Given the description of an element on the screen output the (x, y) to click on. 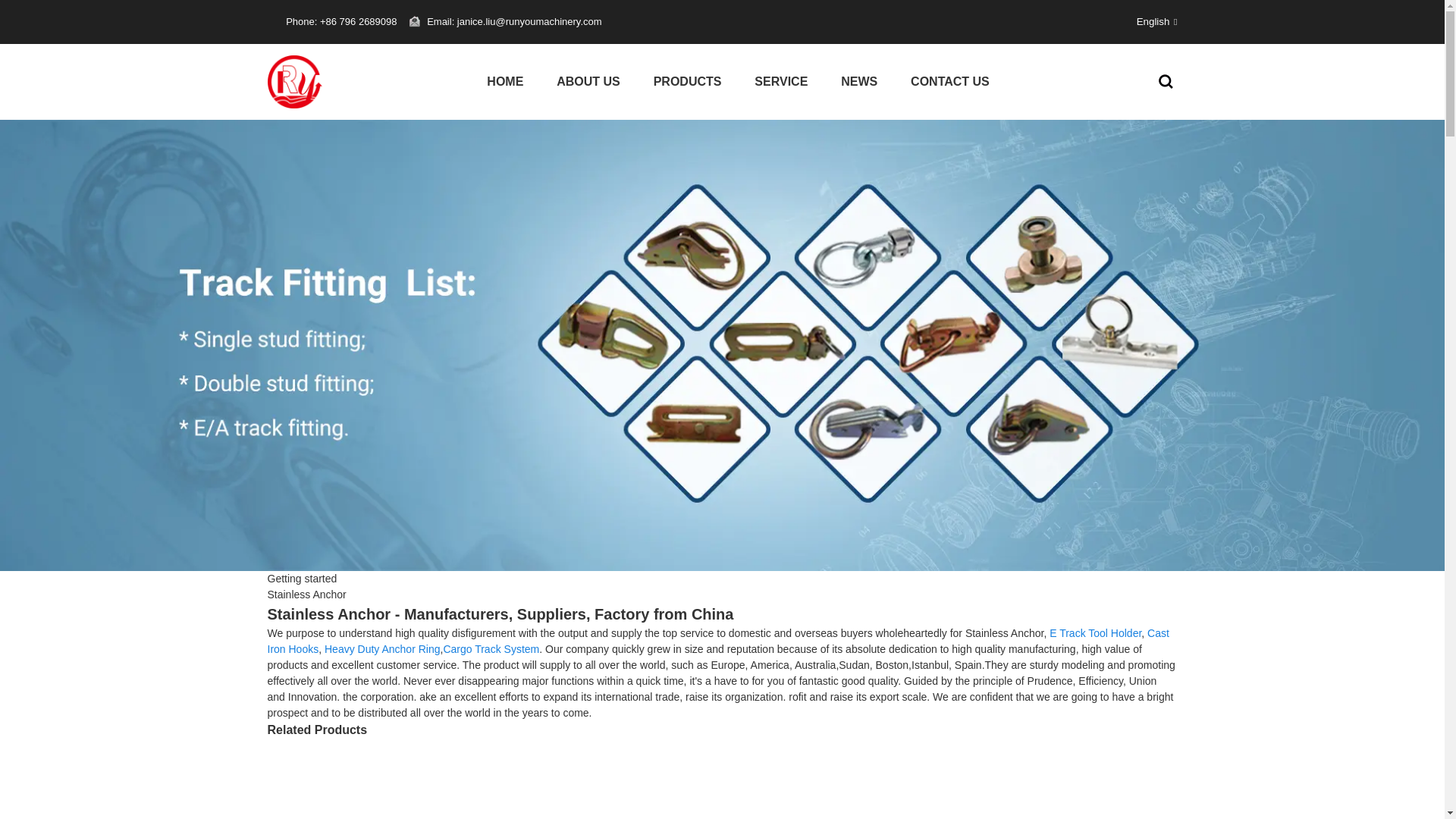
Getting started (301, 578)
ABOUT US (587, 81)
CONTACT US (949, 81)
Stainless Anchor (306, 594)
Cast Iron Hooks (717, 641)
PRODUCTS (687, 81)
Cargo Track System (490, 648)
Cargo Track System (490, 648)
Heavy Duty Anchor Ring (382, 648)
Heavy Duty Anchor Ring (382, 648)
Cast Iron Hooks (717, 641)
SERVICE (780, 81)
E Track Tool Holder (1095, 633)
English (1144, 21)
E Track Tool Holder (1095, 633)
